Given the description of an element on the screen output the (x, y) to click on. 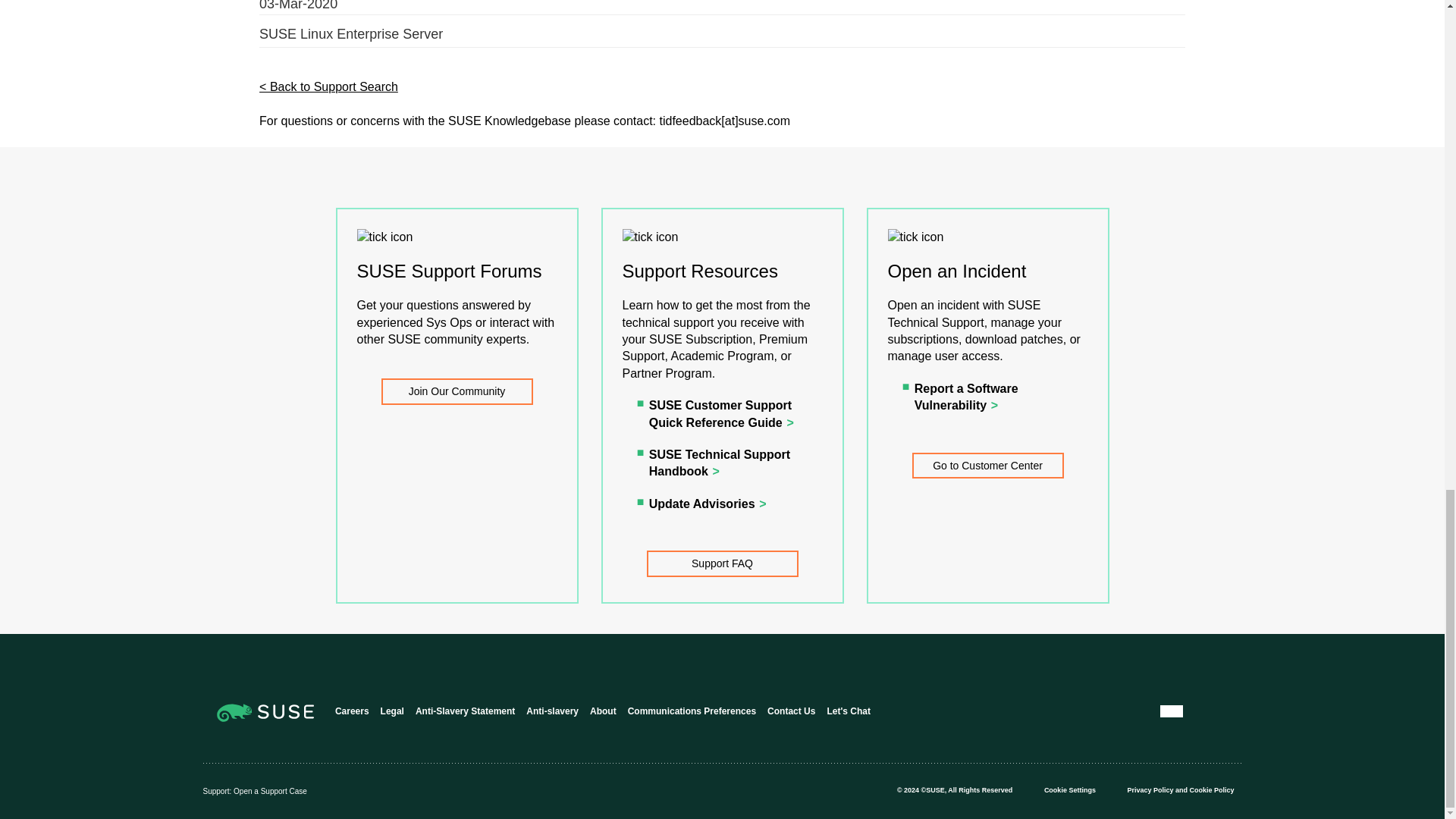
About (602, 710)
Communications Preferences (691, 710)
Let's Chat (848, 710)
Legal (392, 710)
Careers (351, 710)
Contact Us (791, 710)
Anti-Slavery Statement (464, 710)
Anti-slavery (551, 710)
